Given the description of an element on the screen output the (x, y) to click on. 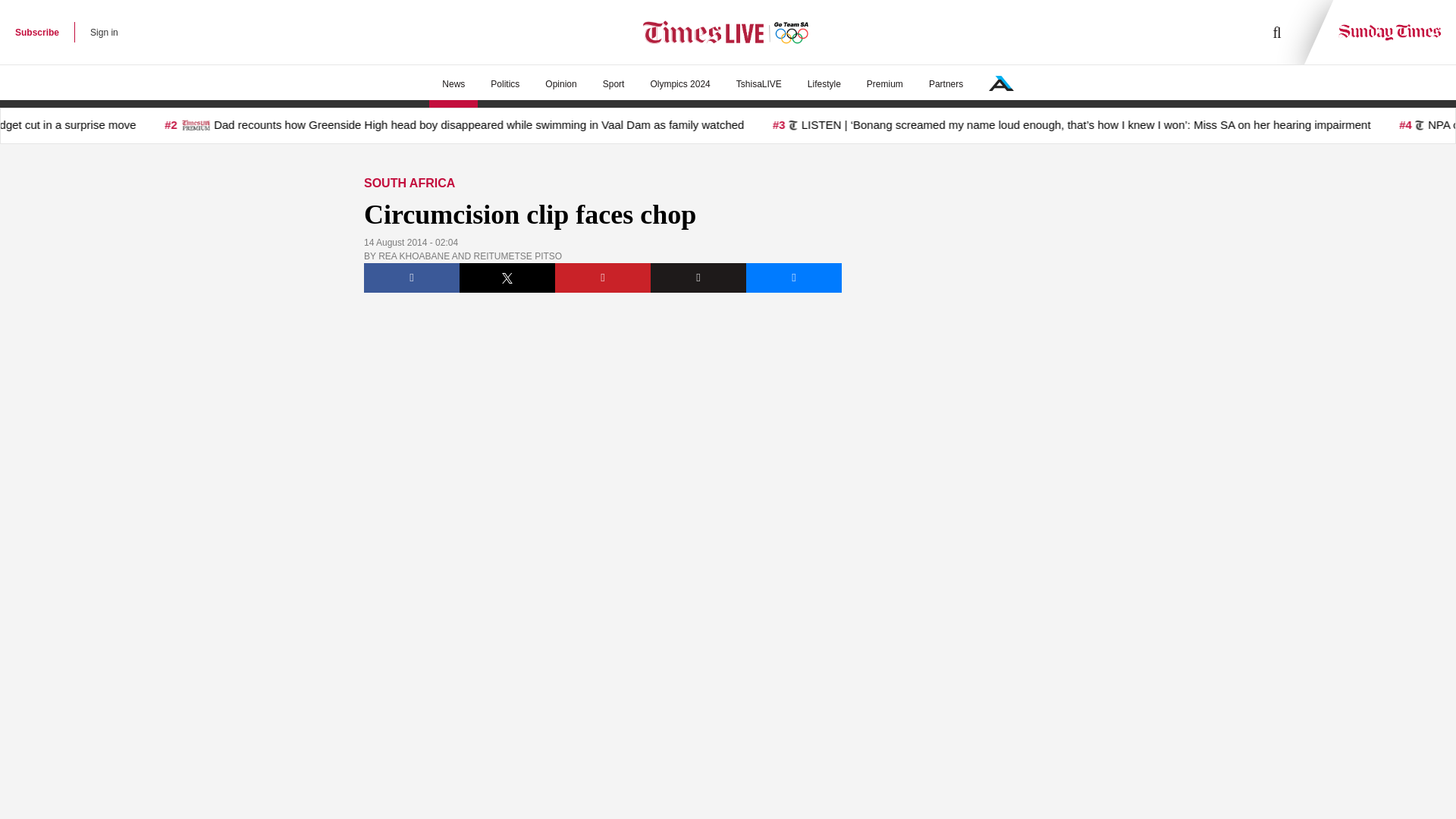
Lifestyle (823, 84)
Olympics 2024 (679, 84)
TshisaLIVE (758, 84)
News (453, 84)
Opinion (560, 84)
Premium (884, 84)
Subscribe (36, 32)
Our Network (1000, 83)
Sign in (103, 32)
Politics (504, 84)
